Given the description of an element on the screen output the (x, y) to click on. 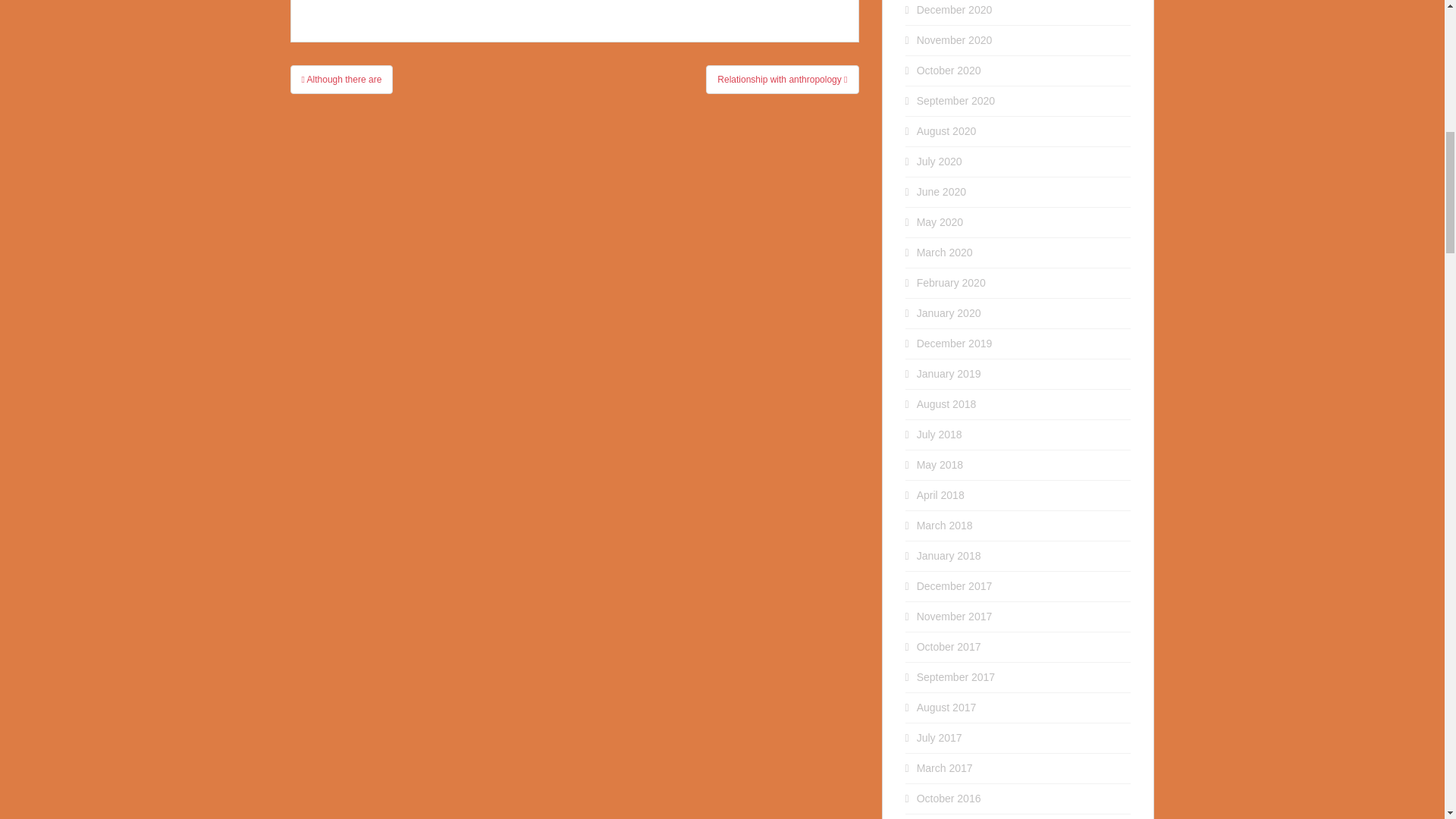
Although there are (341, 79)
September 2020 (956, 101)
October 2020 (949, 70)
Relationship with anthropology (782, 79)
December 2020 (954, 9)
November 2020 (954, 39)
August 2020 (946, 131)
